Given the description of an element on the screen output the (x, y) to click on. 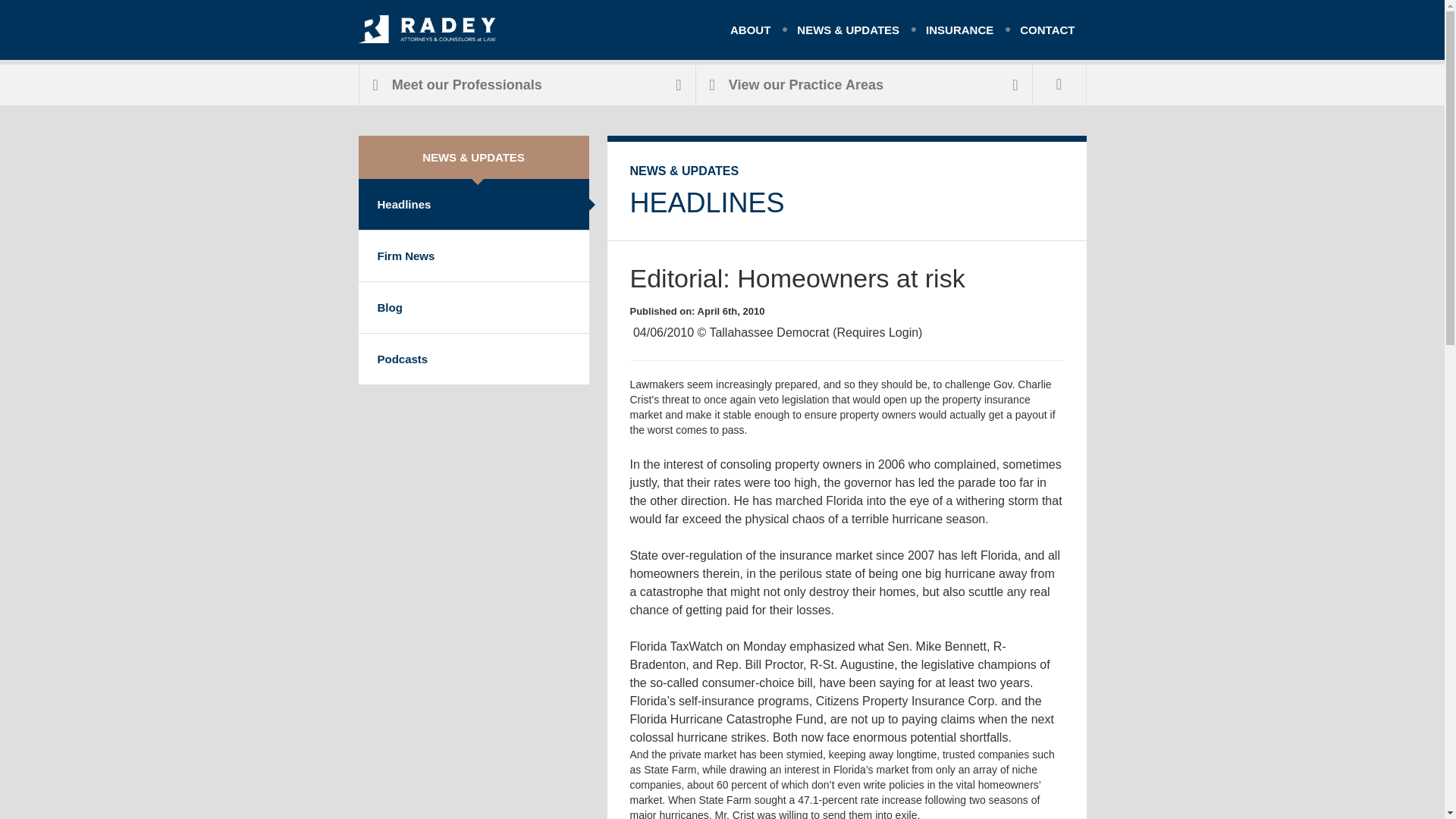
Blog (473, 306)
Headlines (473, 204)
Podcasts (473, 358)
ABOUT (750, 29)
Firm News (473, 255)
INSURANCE (959, 29)
CONTACT (1047, 29)
